Given the description of an element on the screen output the (x, y) to click on. 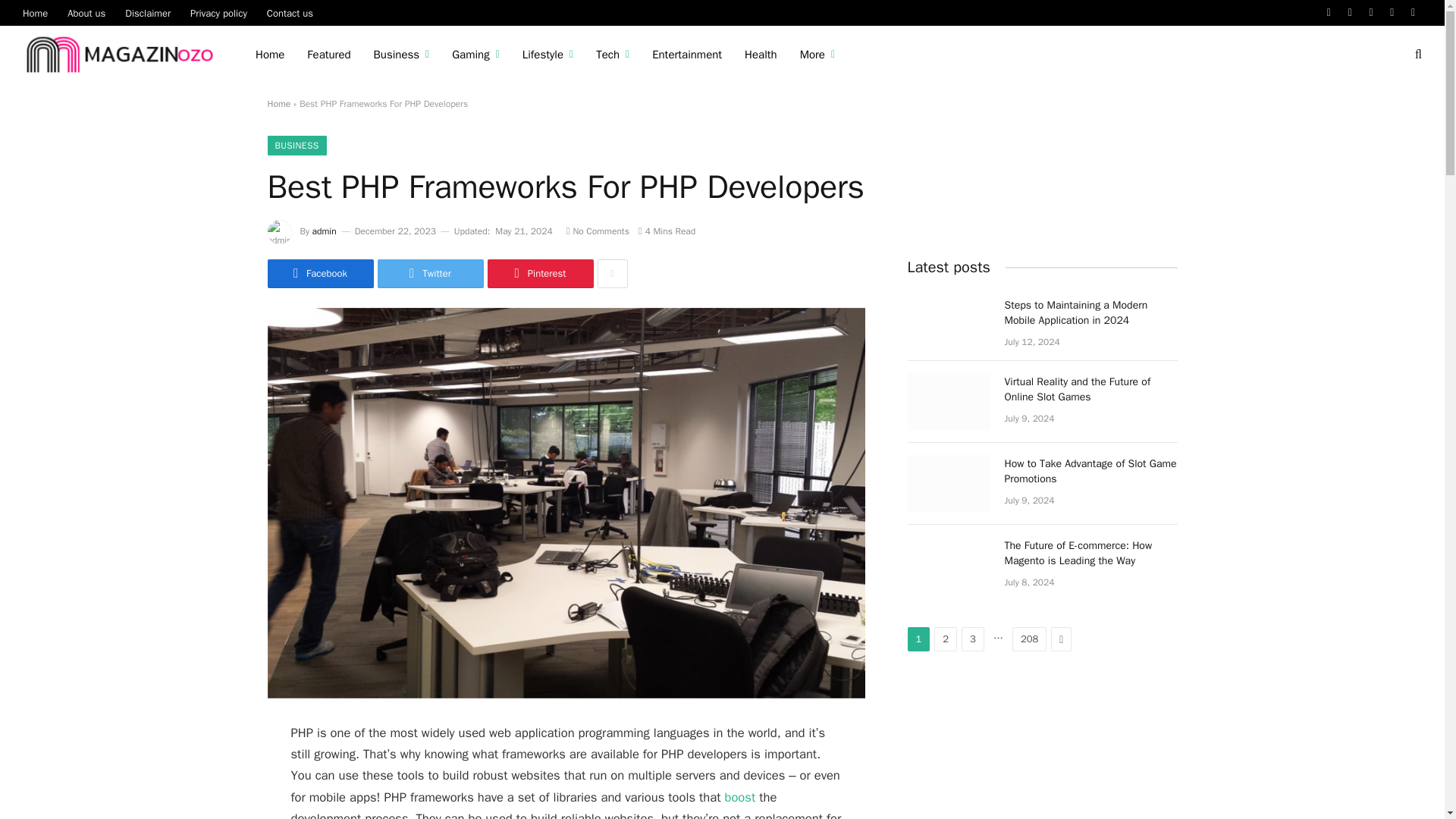
Entertainment (686, 54)
Share on Pinterest (539, 273)
Magazinozo (119, 54)
Lifestyle (548, 54)
Business (401, 54)
Home (269, 54)
Disclaimer (147, 12)
About us (86, 12)
Share on Facebook (319, 273)
Contact us (290, 12)
More (817, 54)
Posts by admin (324, 231)
Health (761, 54)
Featured (328, 54)
